Given the description of an element on the screen output the (x, y) to click on. 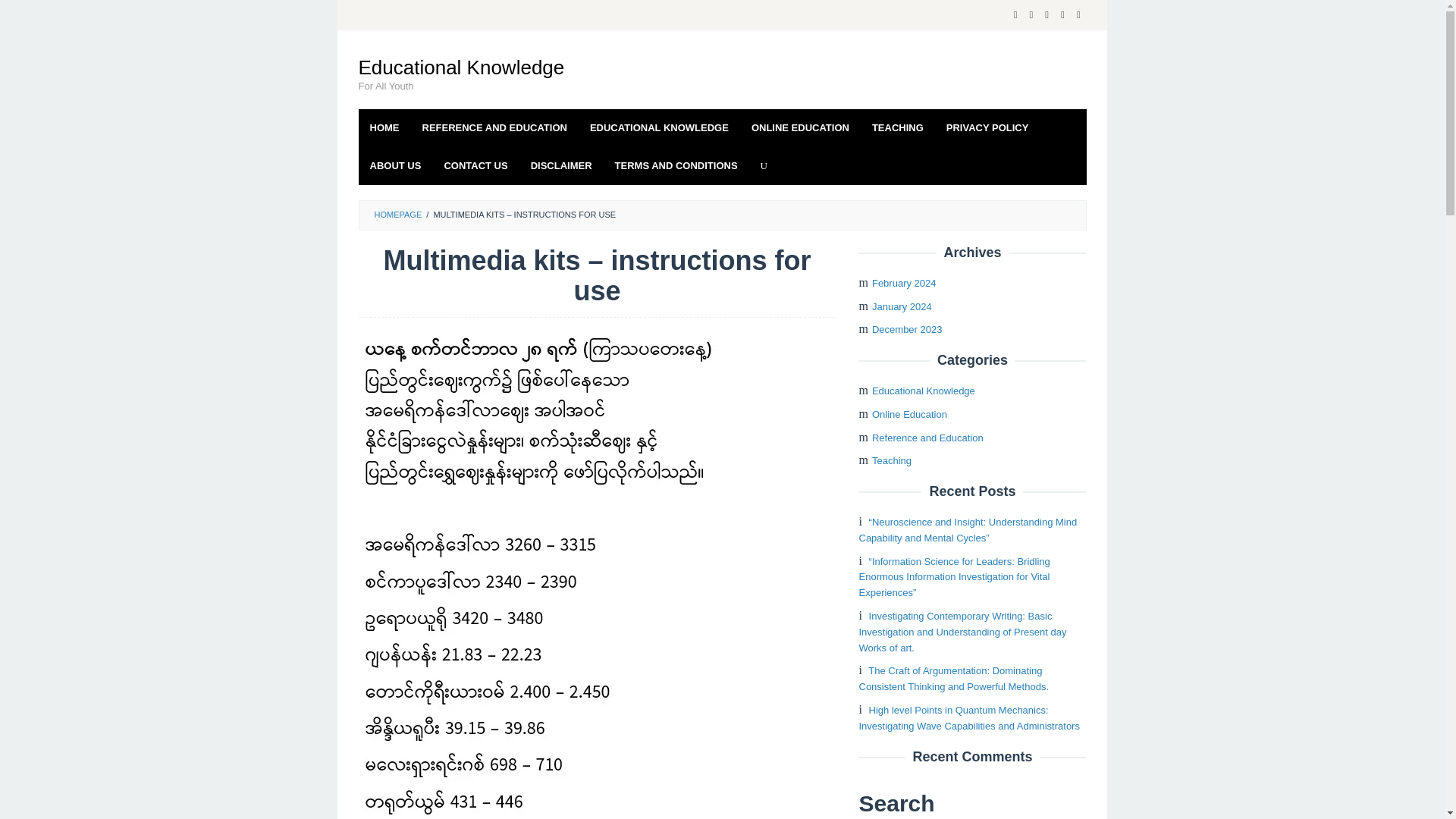
EDUCATIONAL KNOWLEDGE (658, 127)
CONTACT US (475, 166)
February 2024 (904, 283)
ONLINE EDUCATION (799, 127)
HOME (384, 127)
TEACHING (897, 127)
Educational Knowledge (461, 67)
Teaching (891, 460)
DISCLAIMER (561, 166)
TERMS AND CONDITIONS (676, 166)
